Given the description of an element on the screen output the (x, y) to click on. 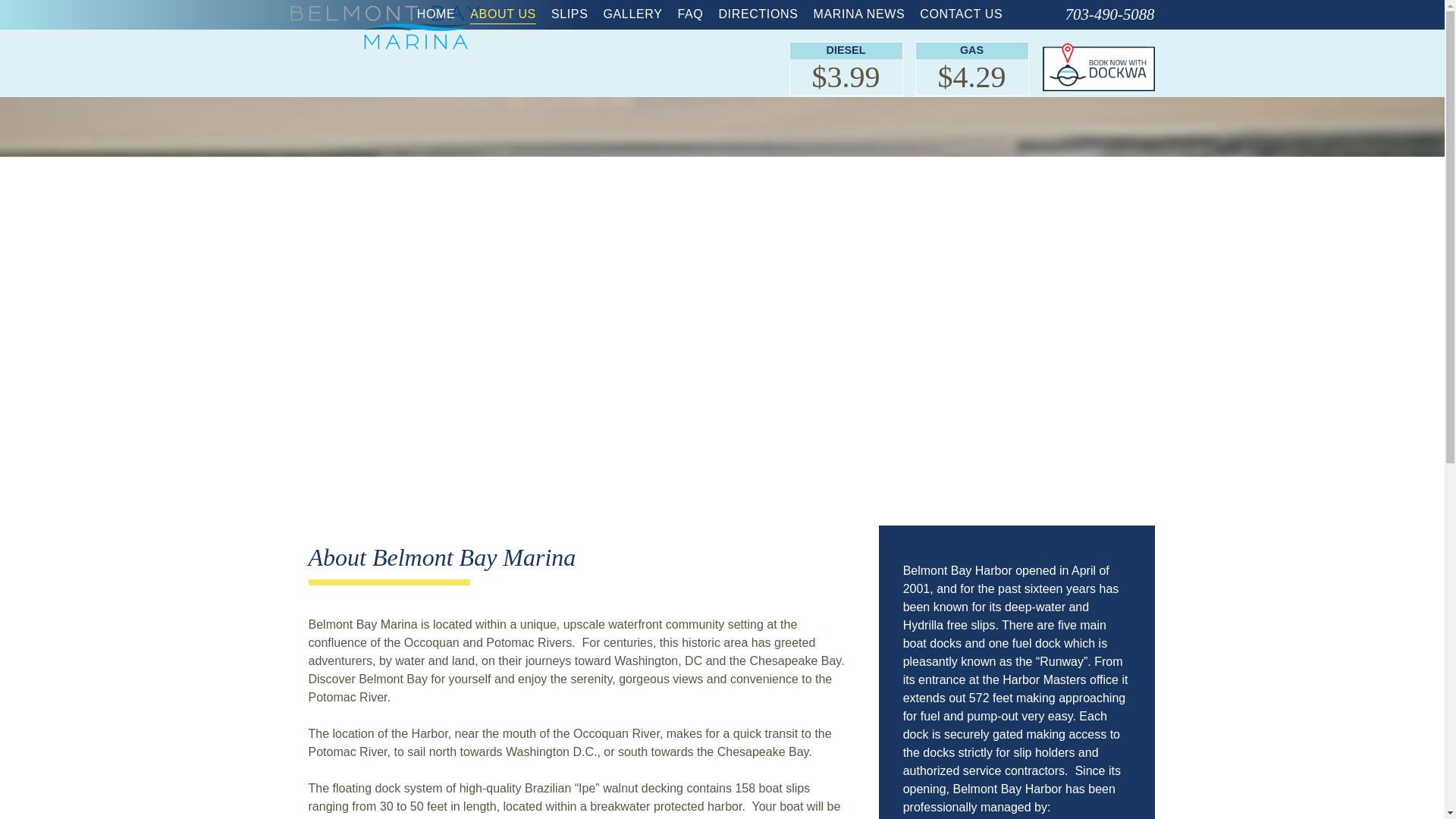
CONTACT US (961, 13)
GALLERY (632, 13)
ABOUT US (502, 14)
SLIPS (569, 13)
703-490-5088 (1085, 14)
MARINA NEWS (858, 13)
HOME (435, 13)
FAQ (690, 13)
DIRECTIONS (757, 13)
